Given the description of an element on the screen output the (x, y) to click on. 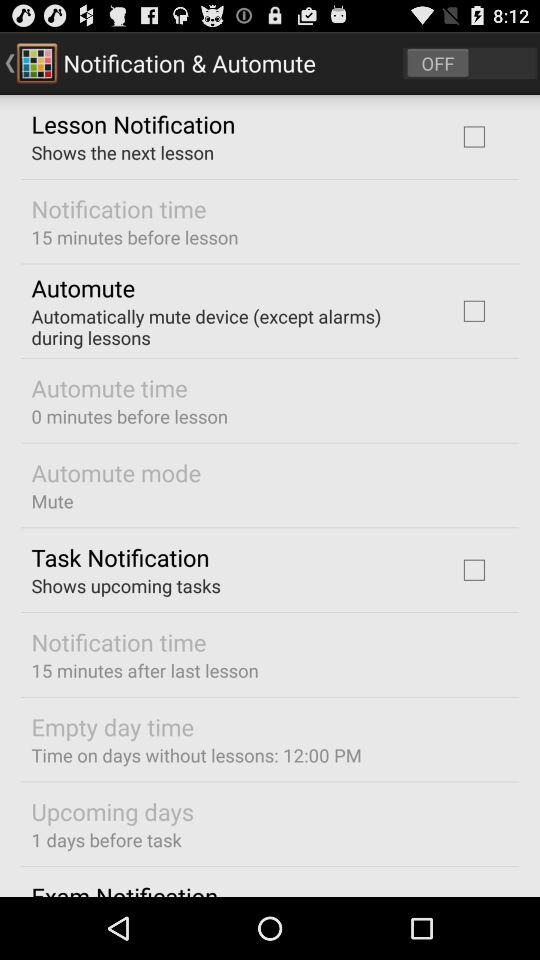
flip until upcoming days app (112, 811)
